Given the description of an element on the screen output the (x, y) to click on. 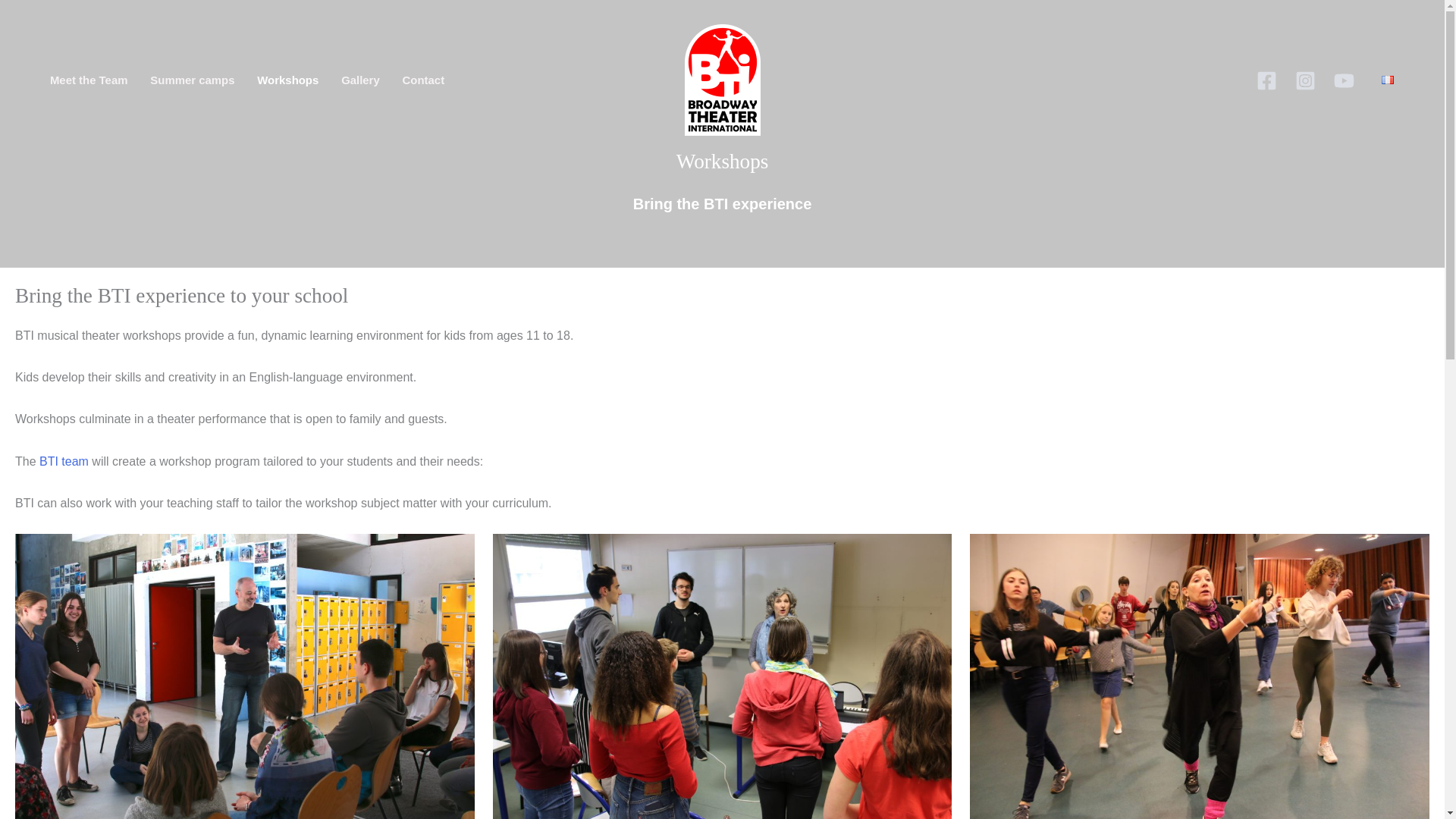
Workshops (288, 80)
Meet the Team (88, 80)
BTI team (63, 461)
Gallery (360, 80)
Contact (423, 80)
Summer camps (192, 80)
